Given the description of an element on the screen output the (x, y) to click on. 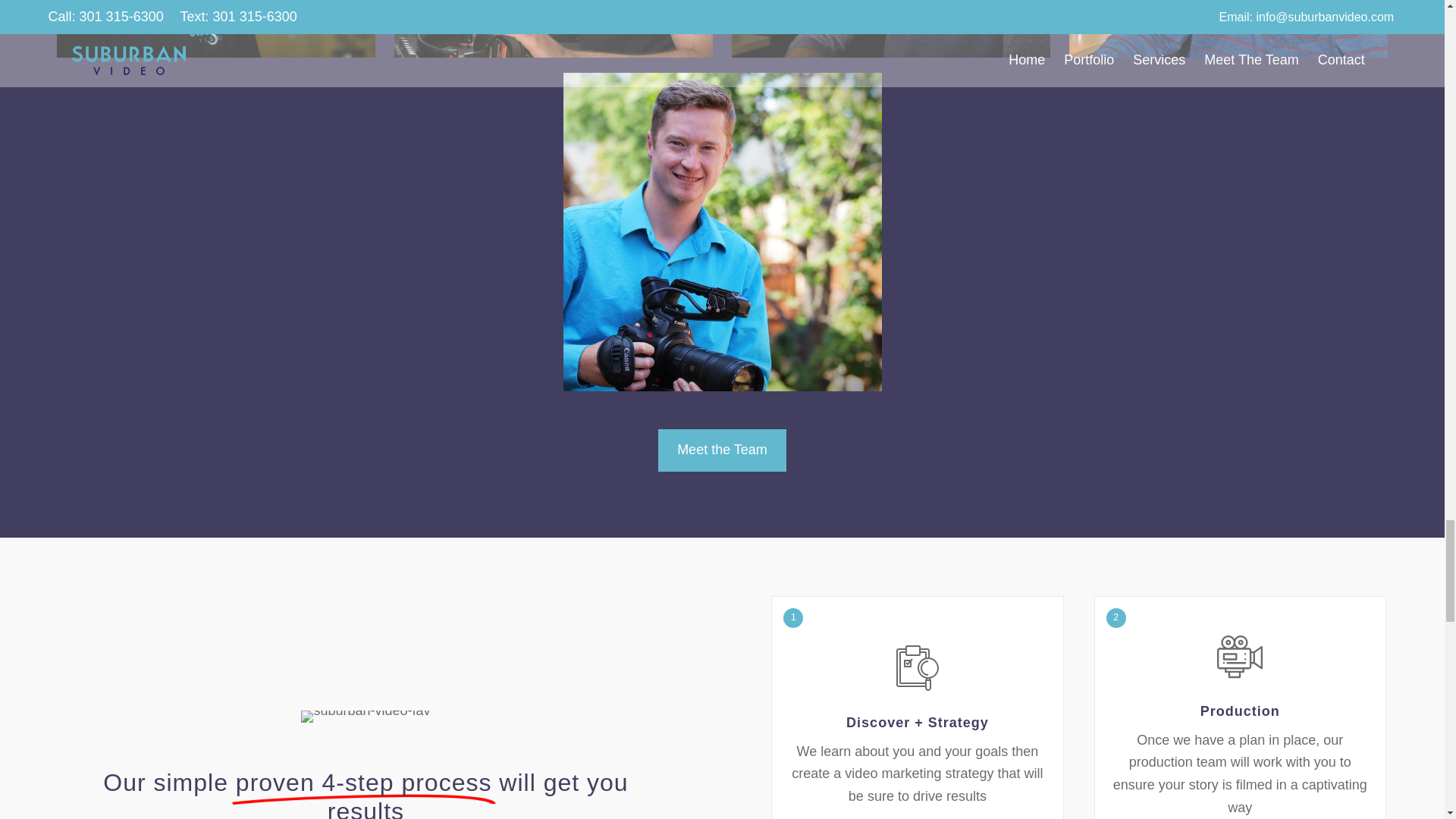
survey (917, 668)
suburban-video-fav (365, 716)
video-camera (1239, 656)
